Given the description of an element on the screen output the (x, y) to click on. 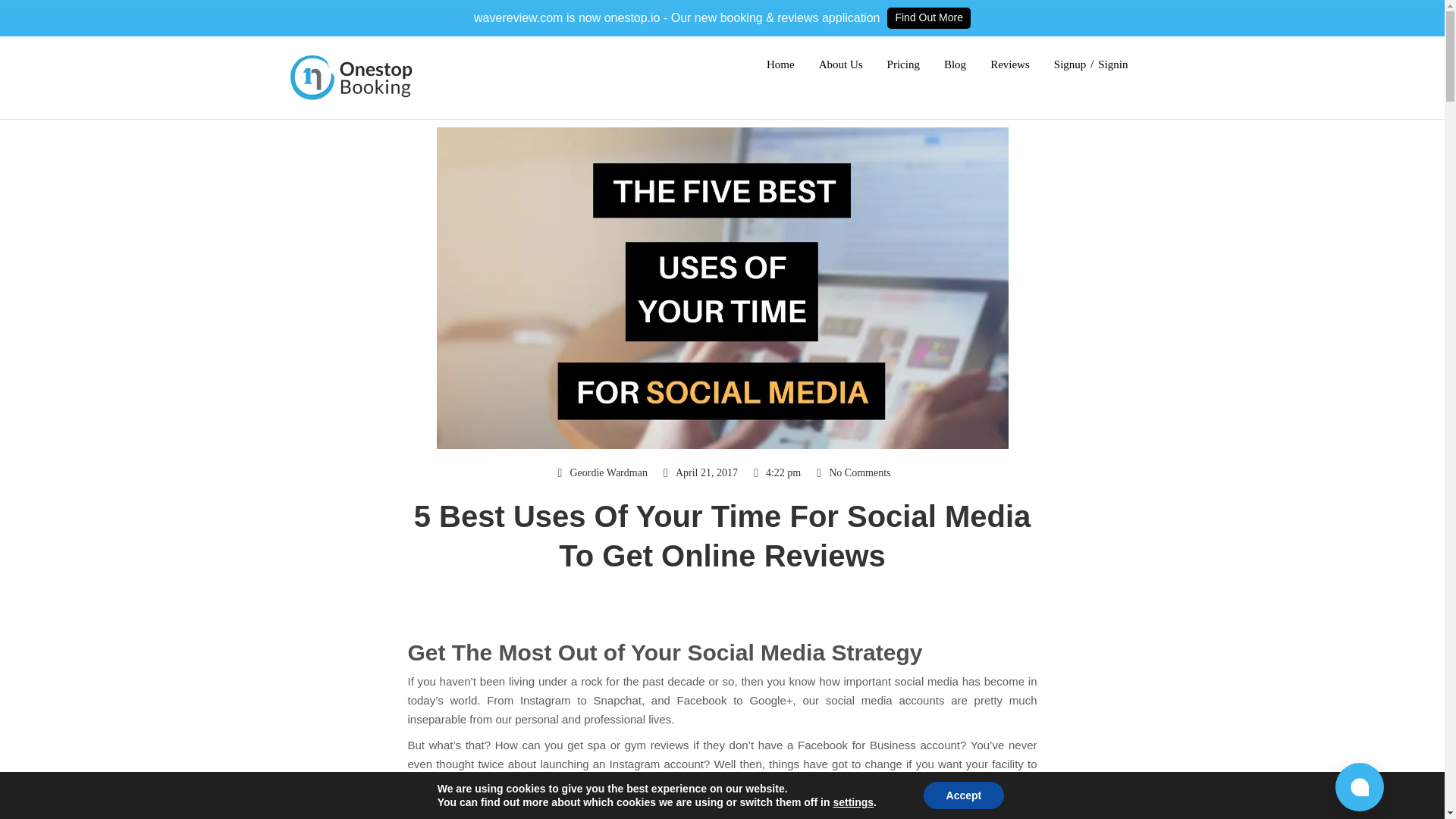
Home (780, 64)
Signup (1070, 64)
Find Out More (927, 17)
April 21, 2017 (698, 472)
Signin (1111, 64)
Reviews (1009, 64)
About Us (840, 64)
Pricing (903, 64)
No Comments (850, 472)
Blog (954, 64)
Open chat window (1359, 786)
